Given the description of an element on the screen output the (x, y) to click on. 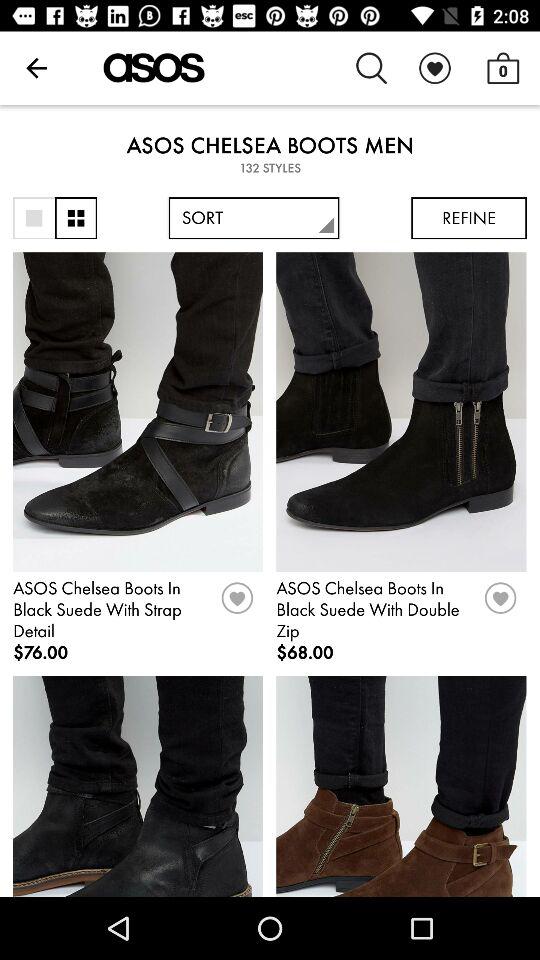
turn off the icon next to the sort icon (76, 218)
